Given the description of an element on the screen output the (x, y) to click on. 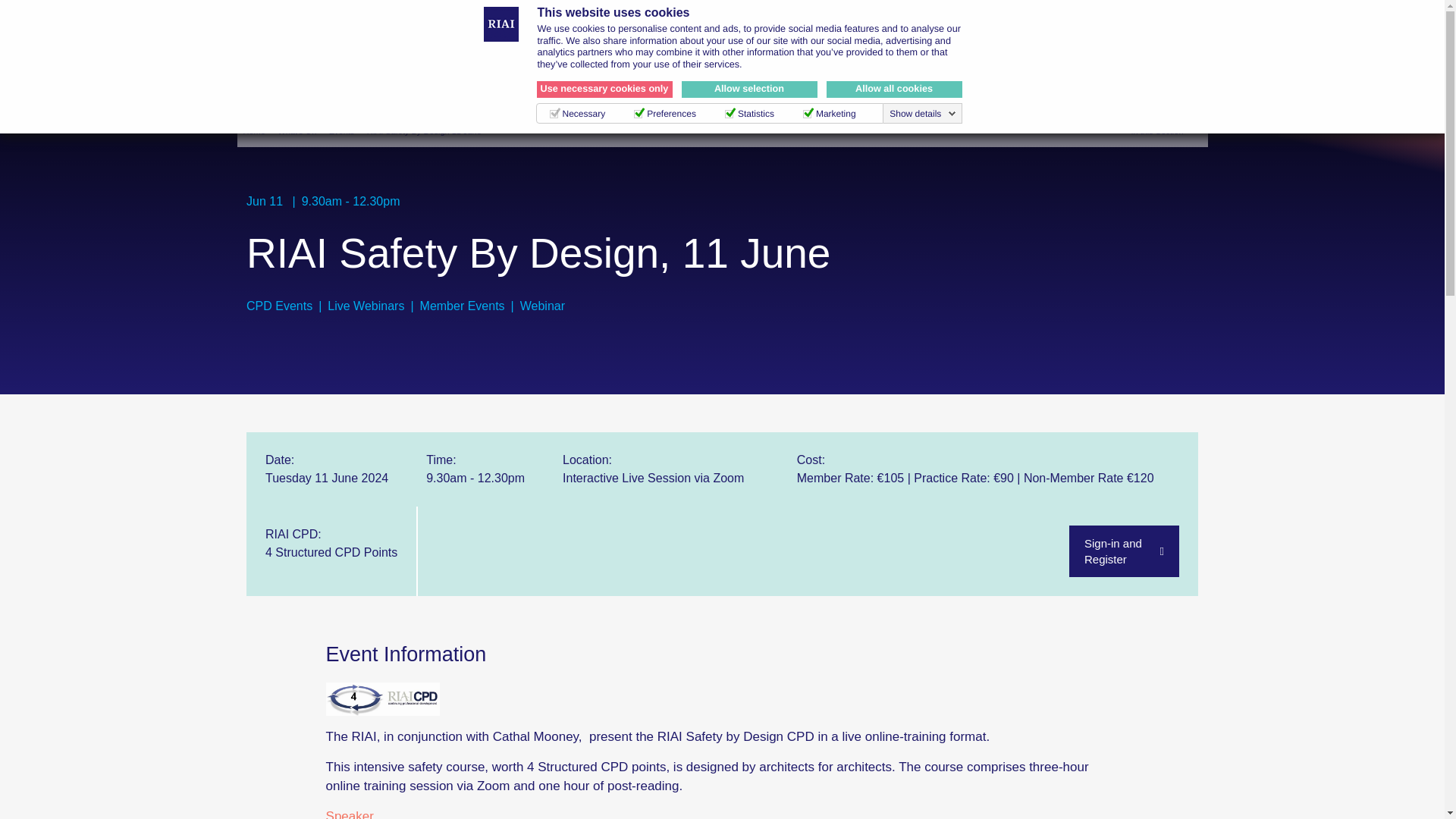
Allow selection (748, 89)
Allow all cookies (894, 89)
Use necessary cookies only (604, 89)
Show details (922, 113)
